Given the description of an element on the screen output the (x, y) to click on. 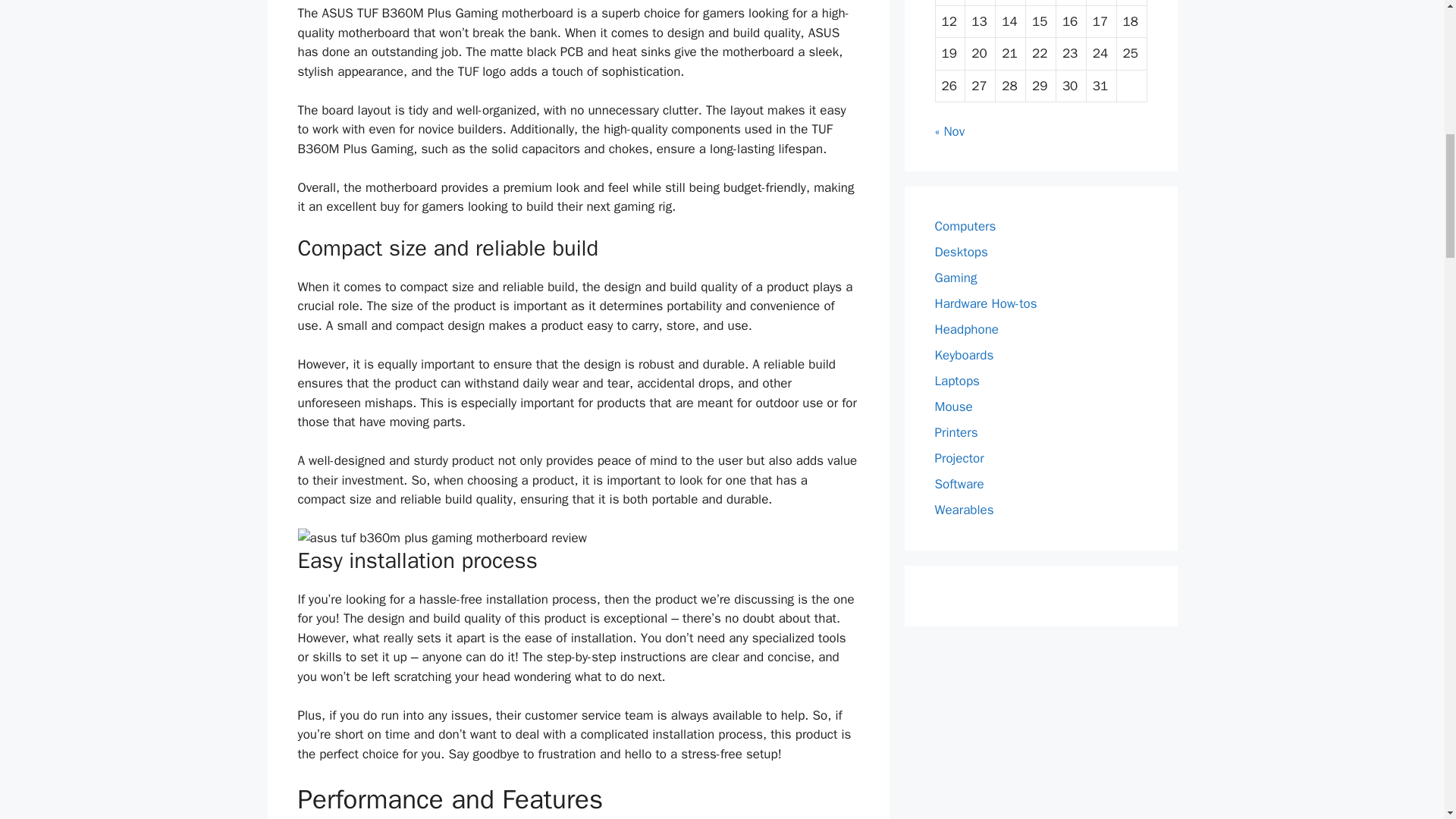
Printers (955, 432)
Headphone (966, 329)
Projector (959, 458)
Software (959, 483)
Gaming (955, 277)
Keyboards (963, 355)
Computers (964, 226)
Laptops (956, 381)
Desktops (960, 252)
Hardware How-tos (985, 303)
Mouse (953, 406)
